Given the description of an element on the screen output the (x, y) to click on. 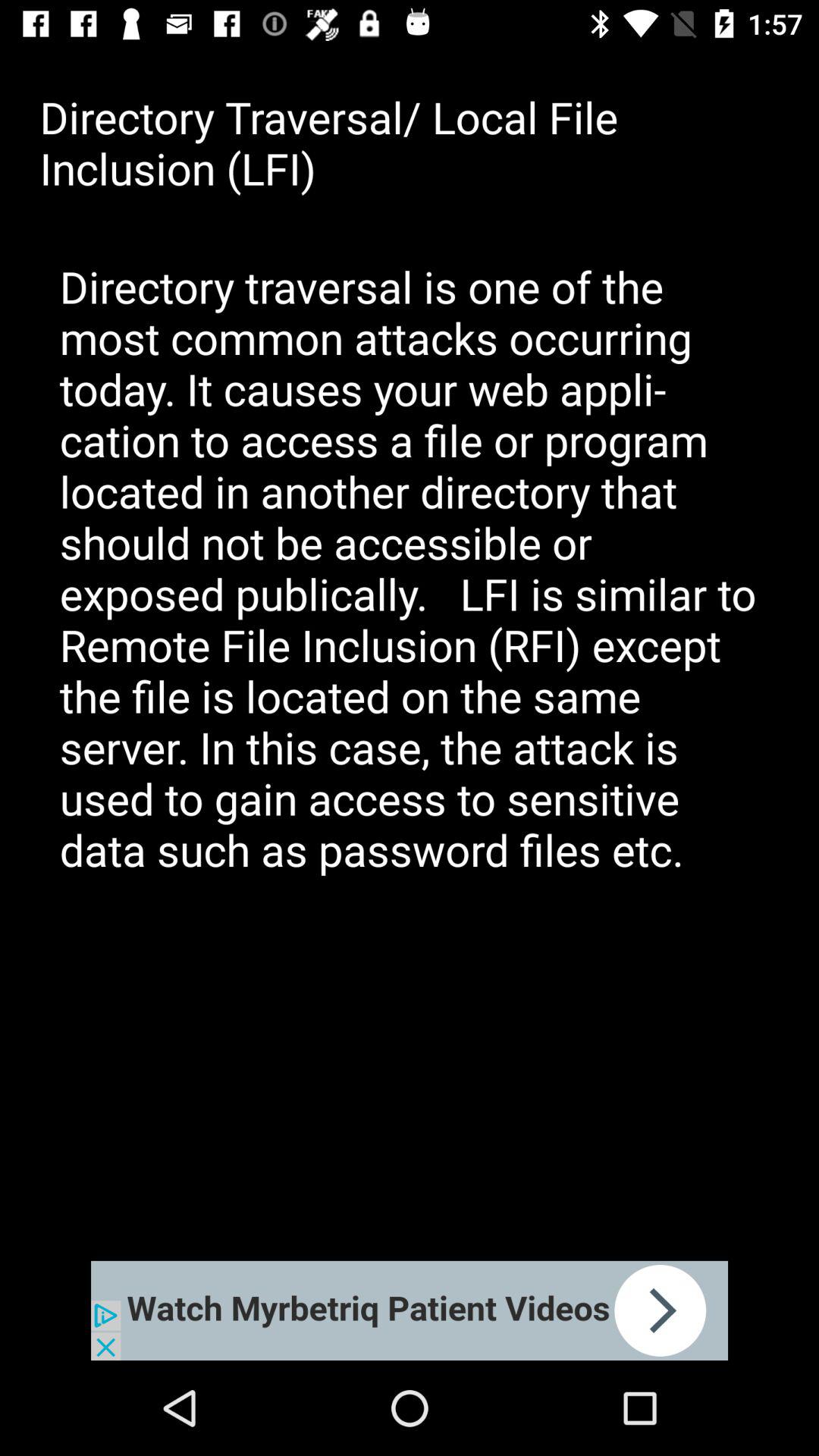
watch patient videos option (409, 1310)
